Given the description of an element on the screen output the (x, y) to click on. 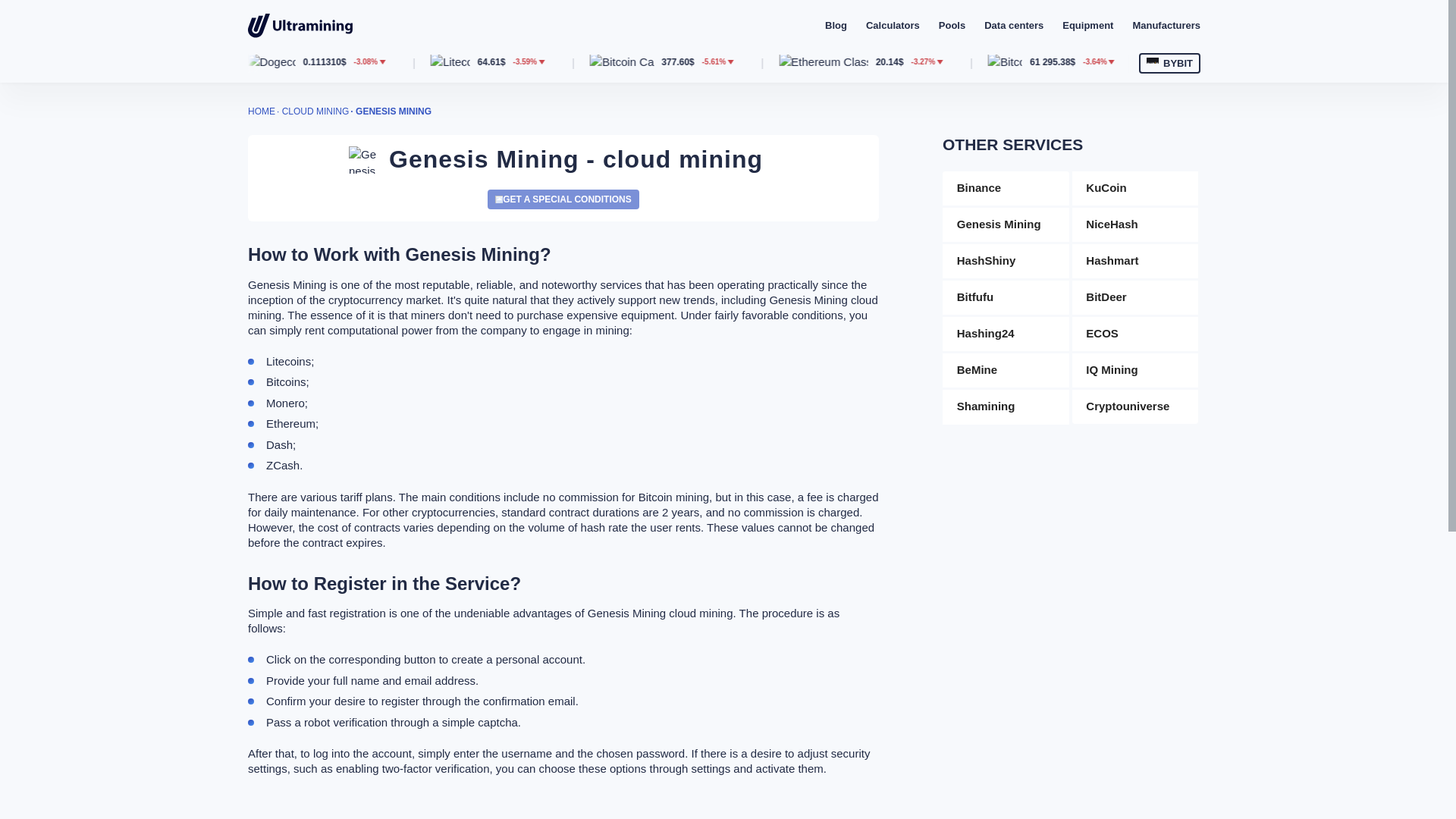
CLOUD MINING (315, 111)
Manufacturers (1165, 25)
Data centers (1013, 25)
BYBIT (1168, 63)
Equipment (1087, 25)
GET A SPECIAL CONDITIONS (563, 199)
Pools (952, 25)
Calculators (893, 25)
GENESIS MINING (392, 111)
HOME (261, 111)
